Given the description of an element on the screen output the (x, y) to click on. 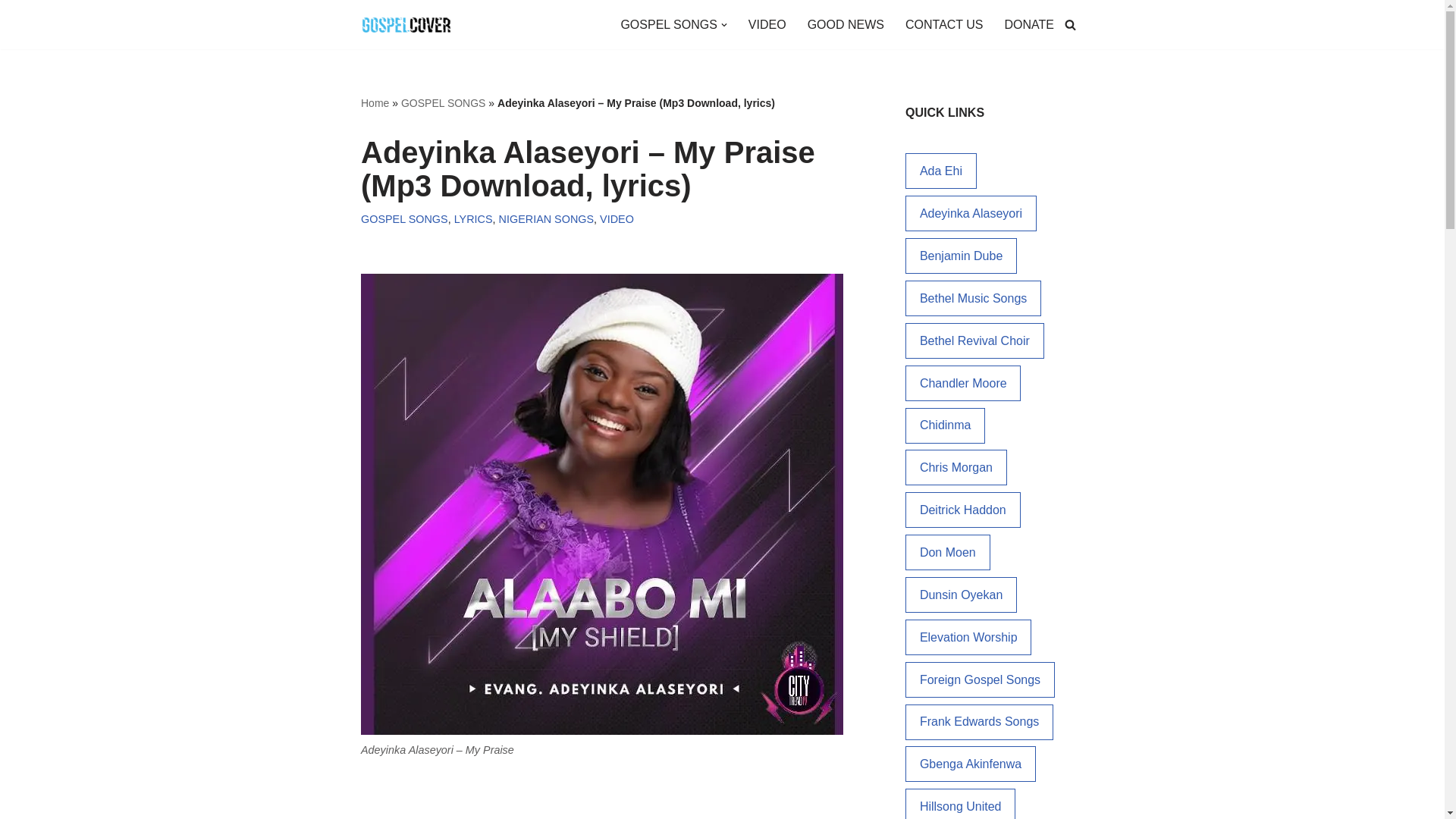
Home (374, 102)
DONATE (1029, 24)
CONTACT US (944, 24)
Skip to content (11, 31)
GOSPEL SONGS (443, 102)
VIDEO (767, 24)
Advertisement (610, 798)
GOSPEL SONGS (668, 24)
GOOD NEWS (845, 24)
